Given the description of an element on the screen output the (x, y) to click on. 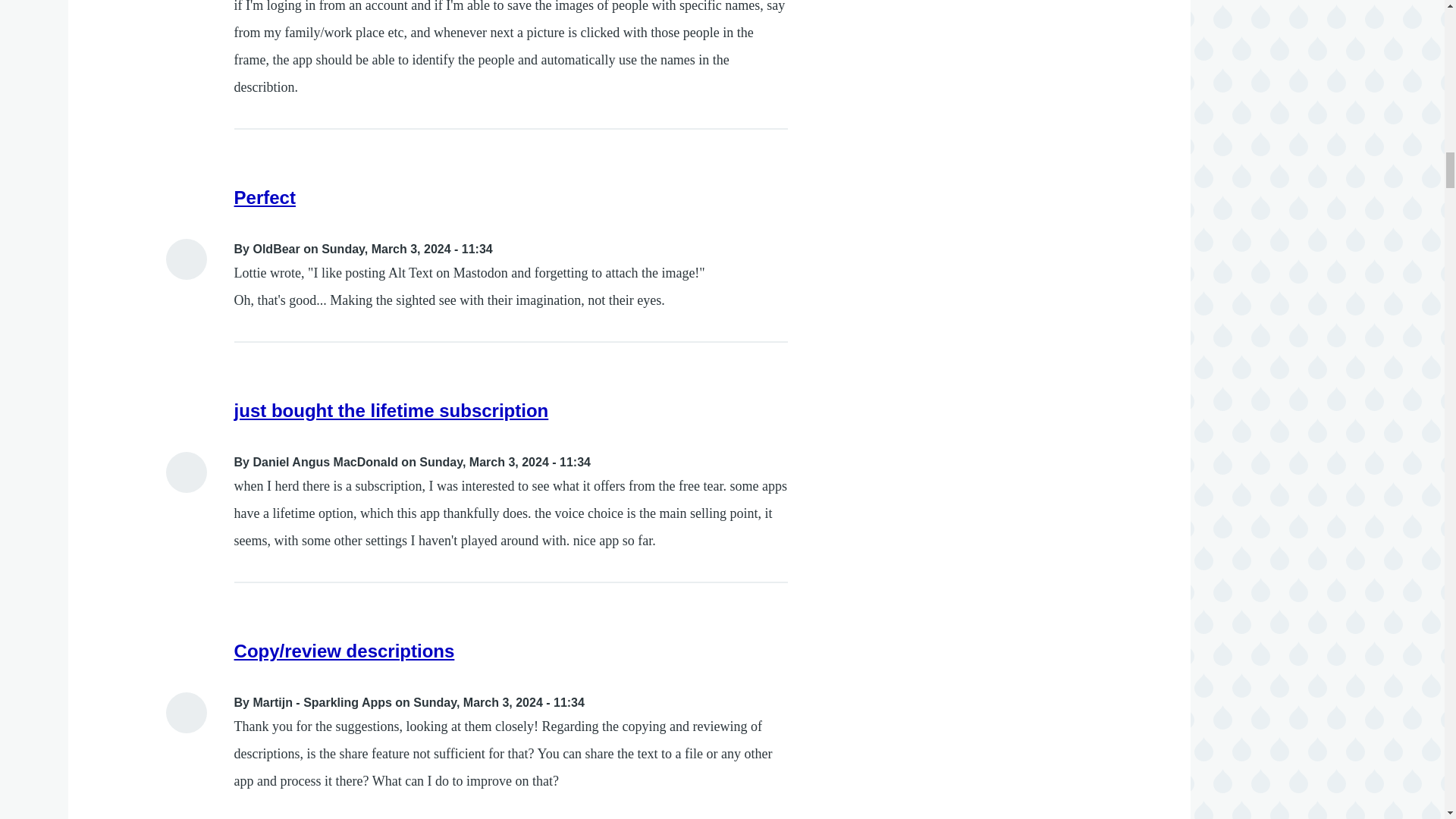
just bought the lifetime subscription (391, 410)
Perfect (264, 197)
